Given the description of an element on the screen output the (x, y) to click on. 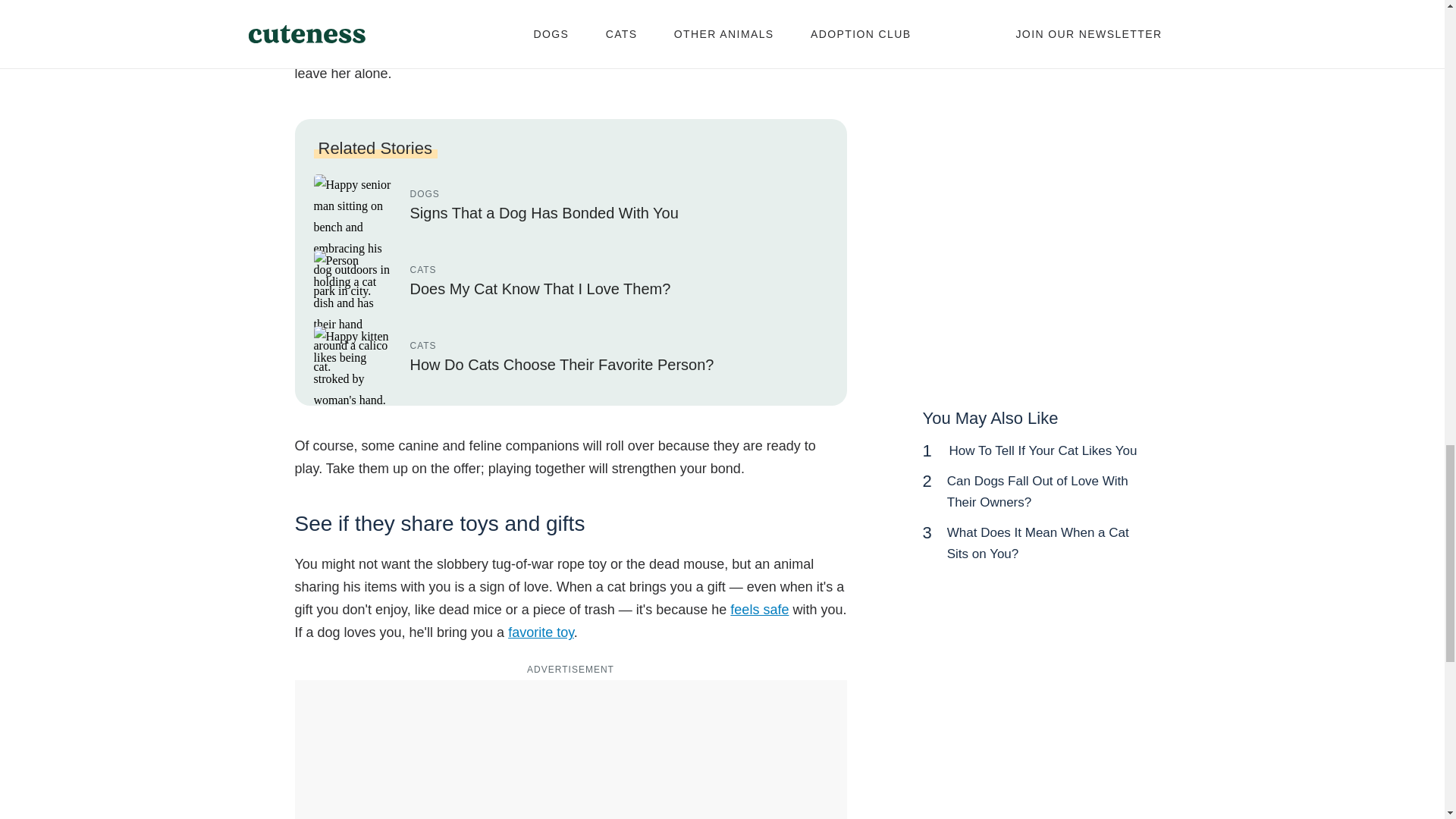
How To Tell If Your Cat Likes You (1043, 450)
Can Dogs Fall Out of Love With Their Owners? (1037, 491)
What Does It Mean When a Cat Sits on You? (1038, 543)
